Given the description of an element on the screen output the (x, y) to click on. 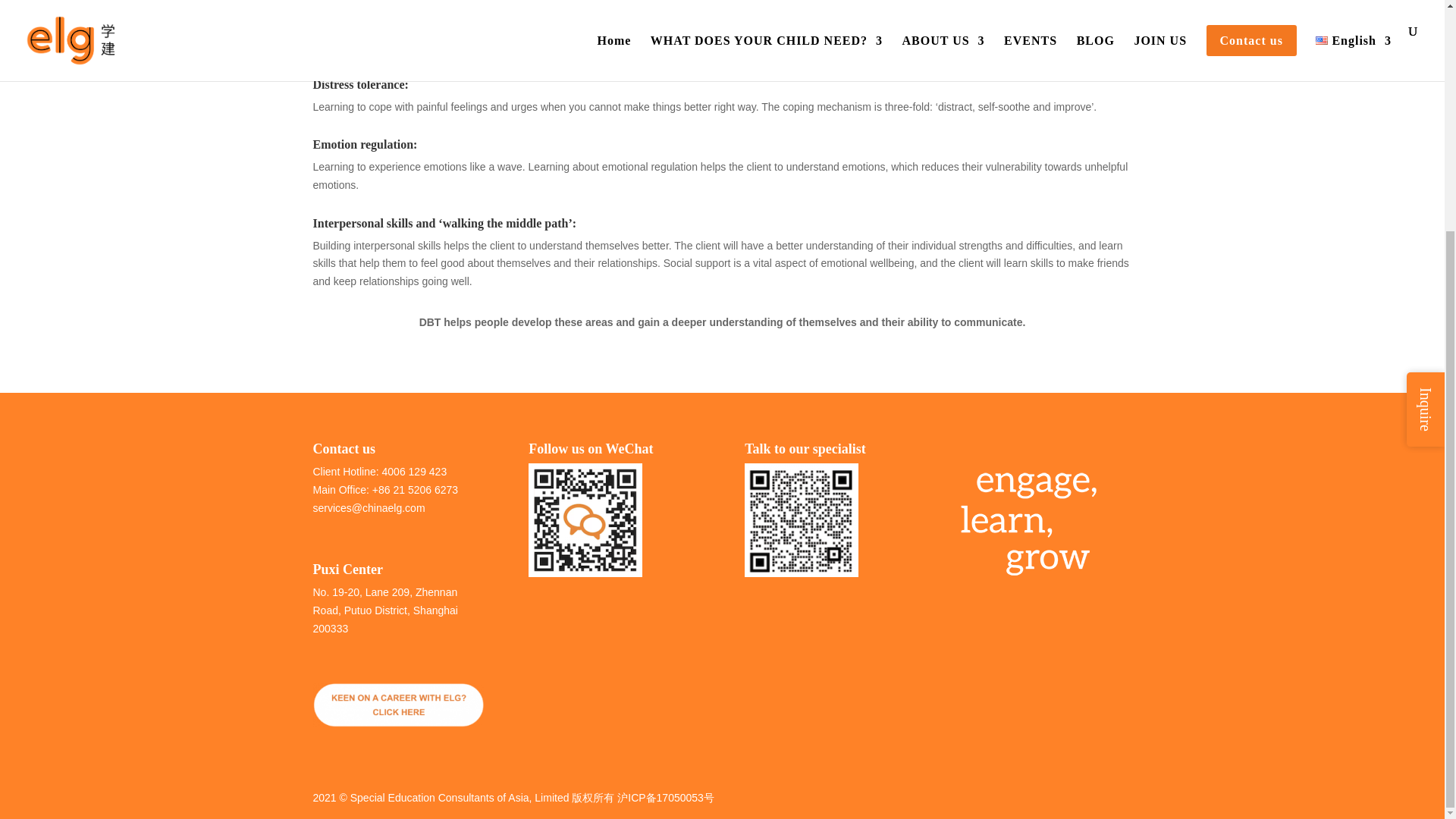
Followe us on WeChat (585, 520)
Talk to our specialist (801, 520)
